Given the description of an element on the screen output the (x, y) to click on. 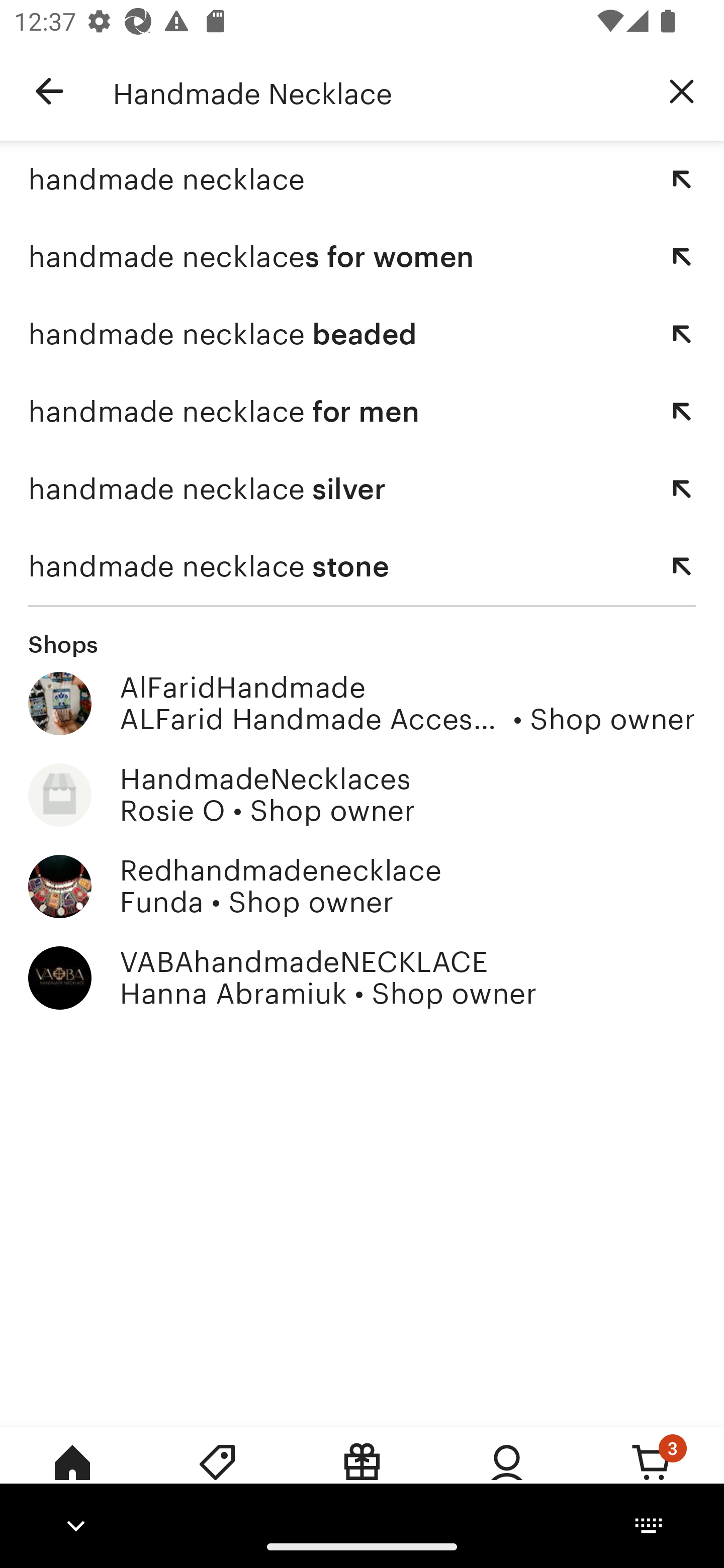
Navigate up (49, 91)
Clear query (681, 90)
Handmade Necklace (375, 91)
Deals (216, 1475)
Gift Mode (361, 1475)
You (506, 1475)
Cart, 3 new notifications (651, 1475)
